Given the description of an element on the screen output the (x, y) to click on. 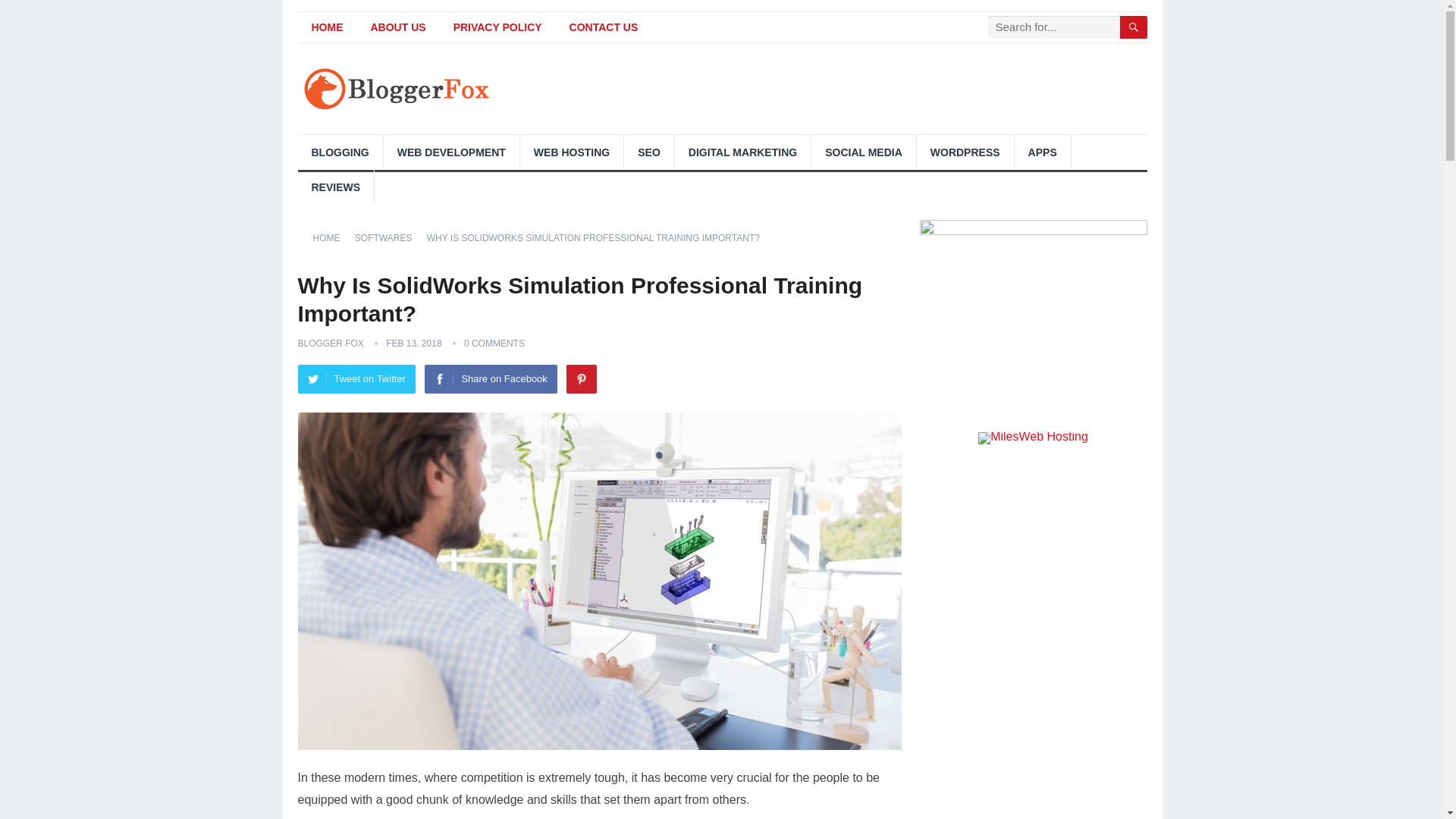
View all posts in Softwares (389, 237)
0 COMMENTS (494, 343)
WORDPRESS (965, 152)
Share on Facebook (490, 378)
ABOUT US (397, 27)
SEO (649, 152)
CONTACT US (604, 27)
HOME (331, 237)
WEB HOSTING (571, 152)
WEB DEVELOPMENT (451, 152)
